Given the description of an element on the screen output the (x, y) to click on. 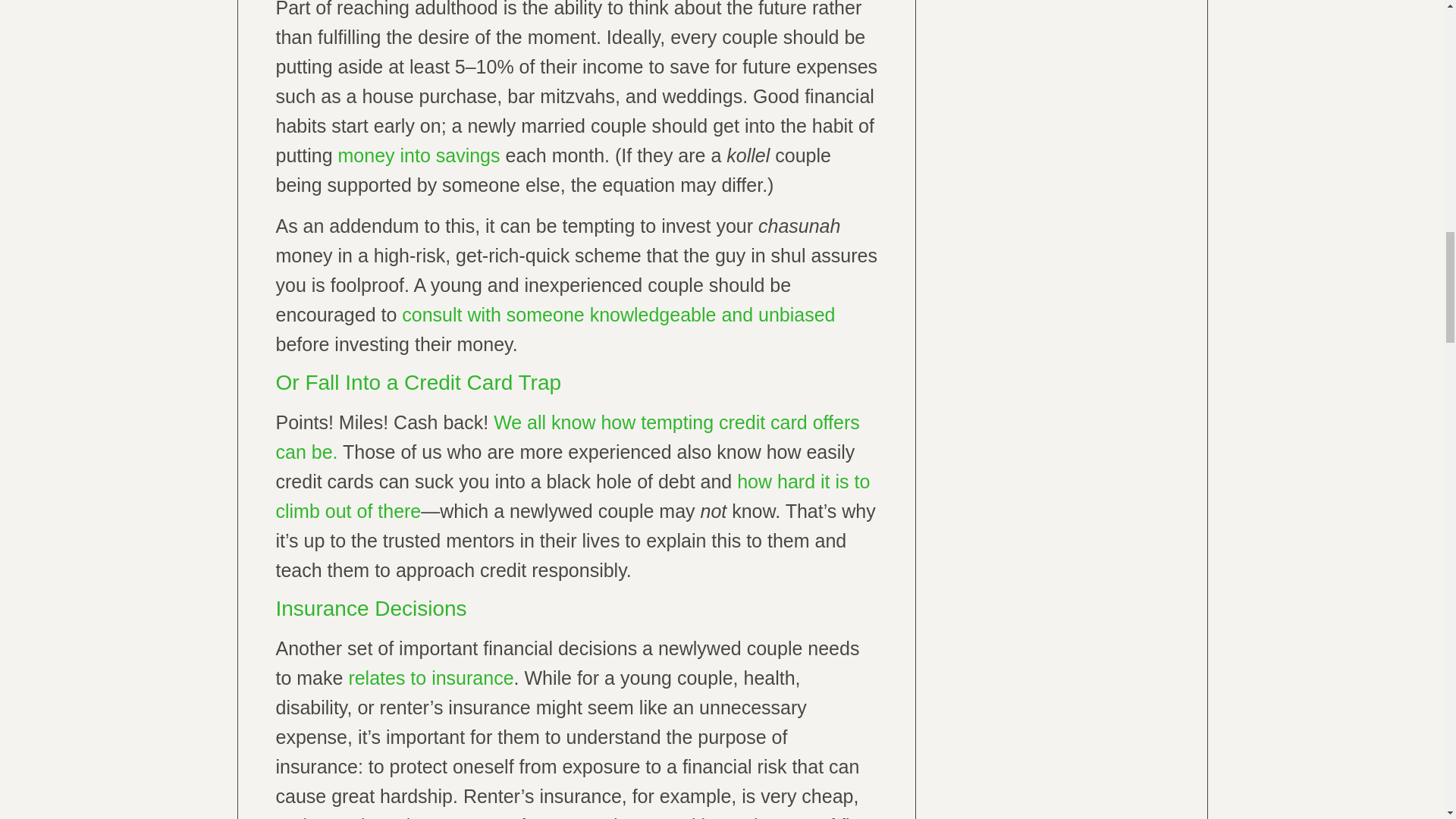
relates to insurance (430, 677)
We all know how tempting credit card offers can be. (568, 436)
consult with someone knowledgeable and unbiased (617, 314)
how hard it is to climb out of there (573, 495)
money into savings (418, 155)
